Given the description of an element on the screen output the (x, y) to click on. 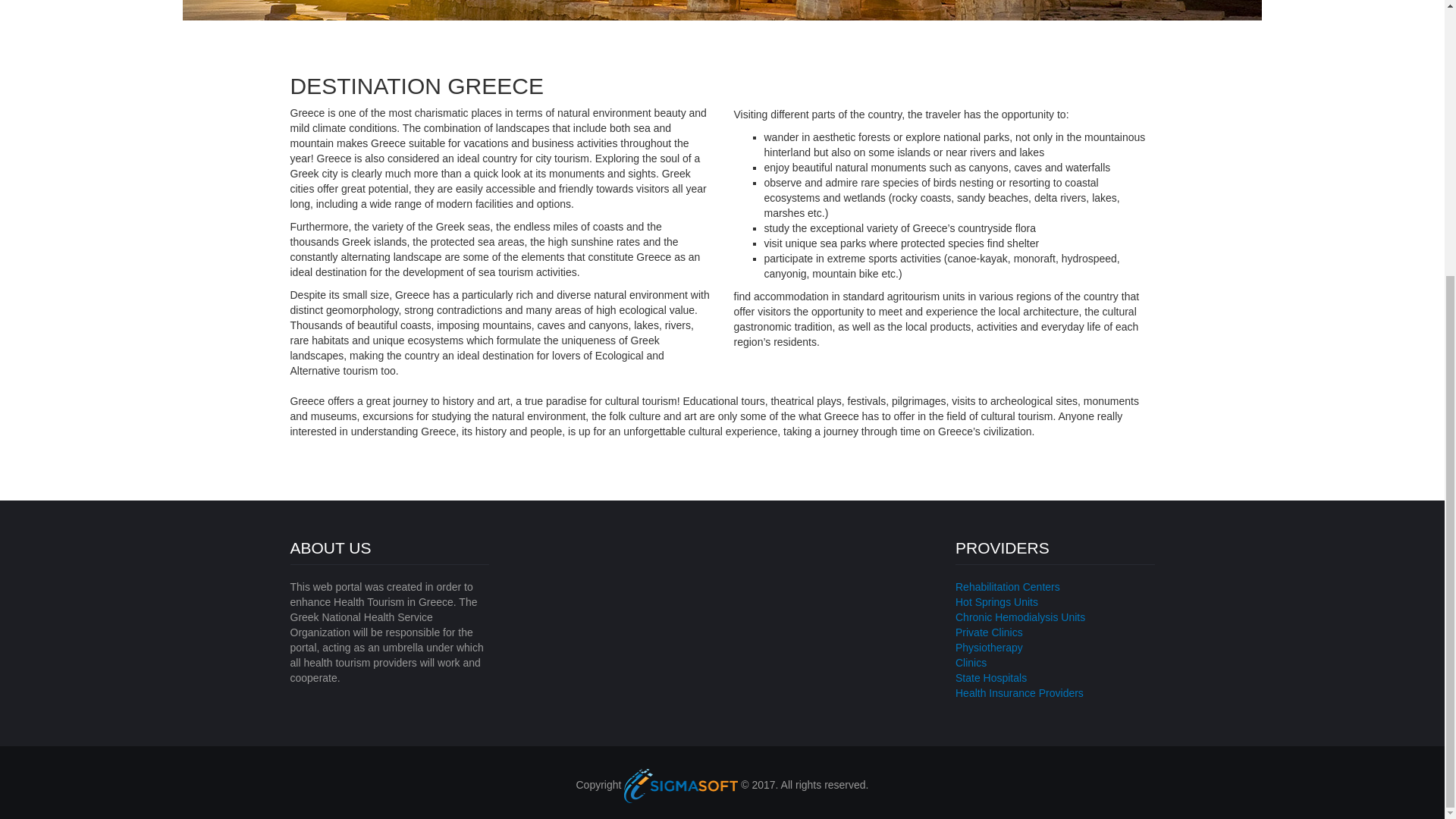
Clinics (971, 662)
Hot Springs Units (996, 602)
State Hospitals (990, 677)
Physiotherapy (989, 647)
Rehabilitation Centers (1007, 586)
Private Clinics (989, 632)
Chronic Hemodialysis Units (1019, 616)
Health Insurance Providers (1019, 693)
